Given the description of an element on the screen output the (x, y) to click on. 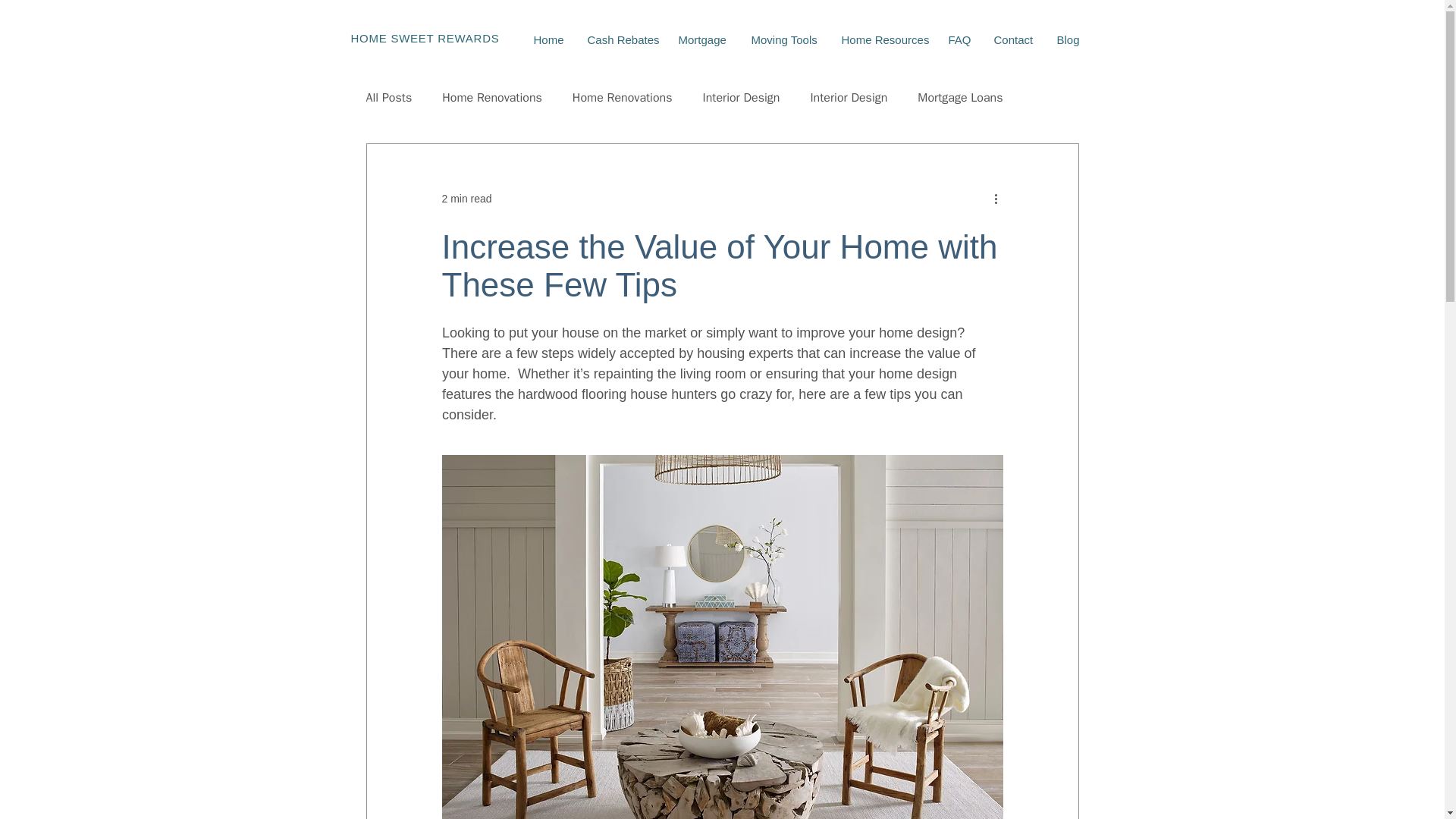
Home (548, 39)
Home Renovations (622, 97)
Blog (1067, 39)
Interior Design (847, 97)
Contact (1013, 39)
Moving Tools (784, 39)
Home Renovations (491, 97)
Mortgage Loans (960, 97)
HOME SWEET REWARDS (424, 38)
Cash Rebates (621, 39)
